Given the description of an element on the screen output the (x, y) to click on. 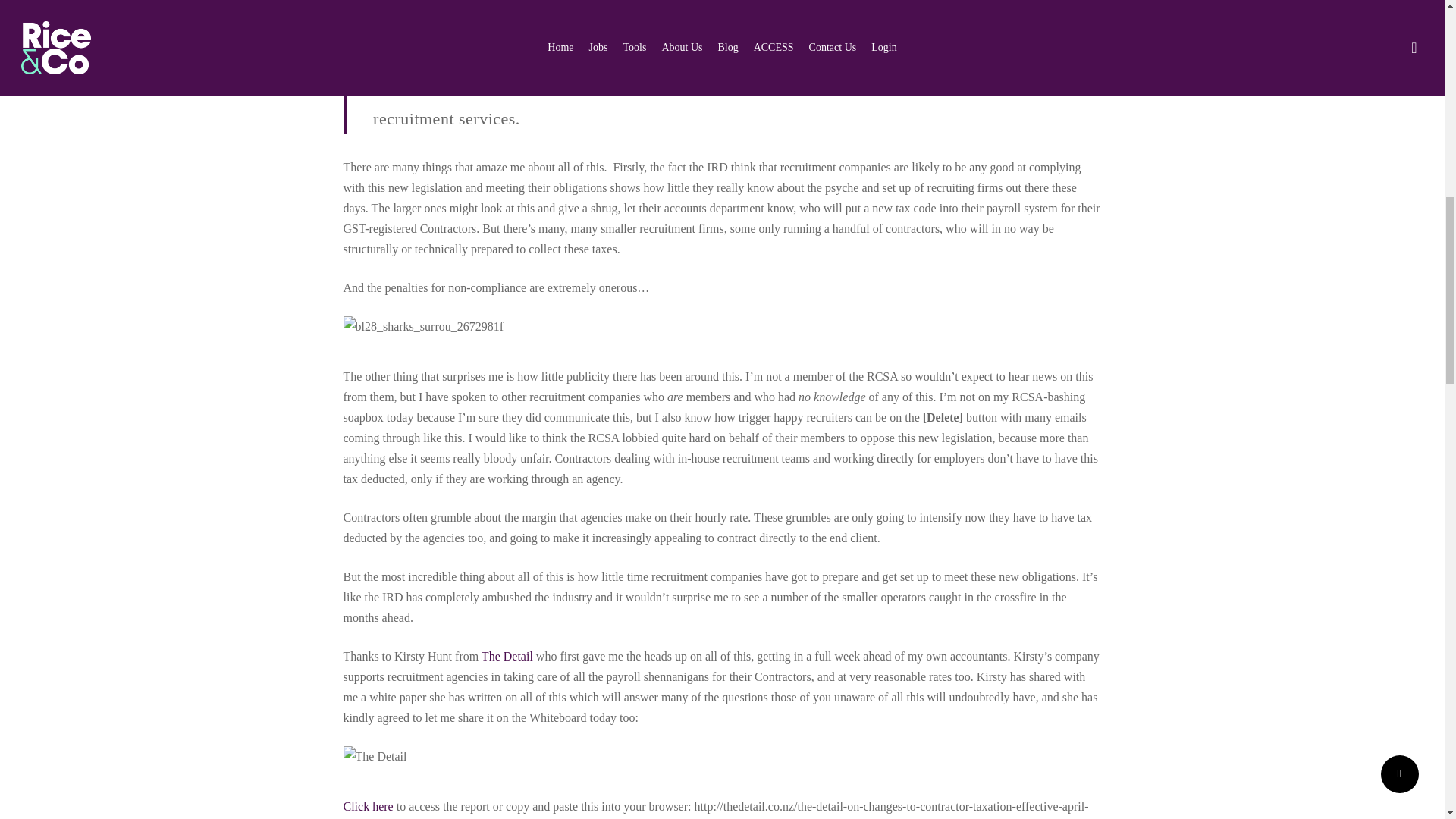
Click here (367, 806)
The Detail (506, 656)
